Given the description of an element on the screen output the (x, y) to click on. 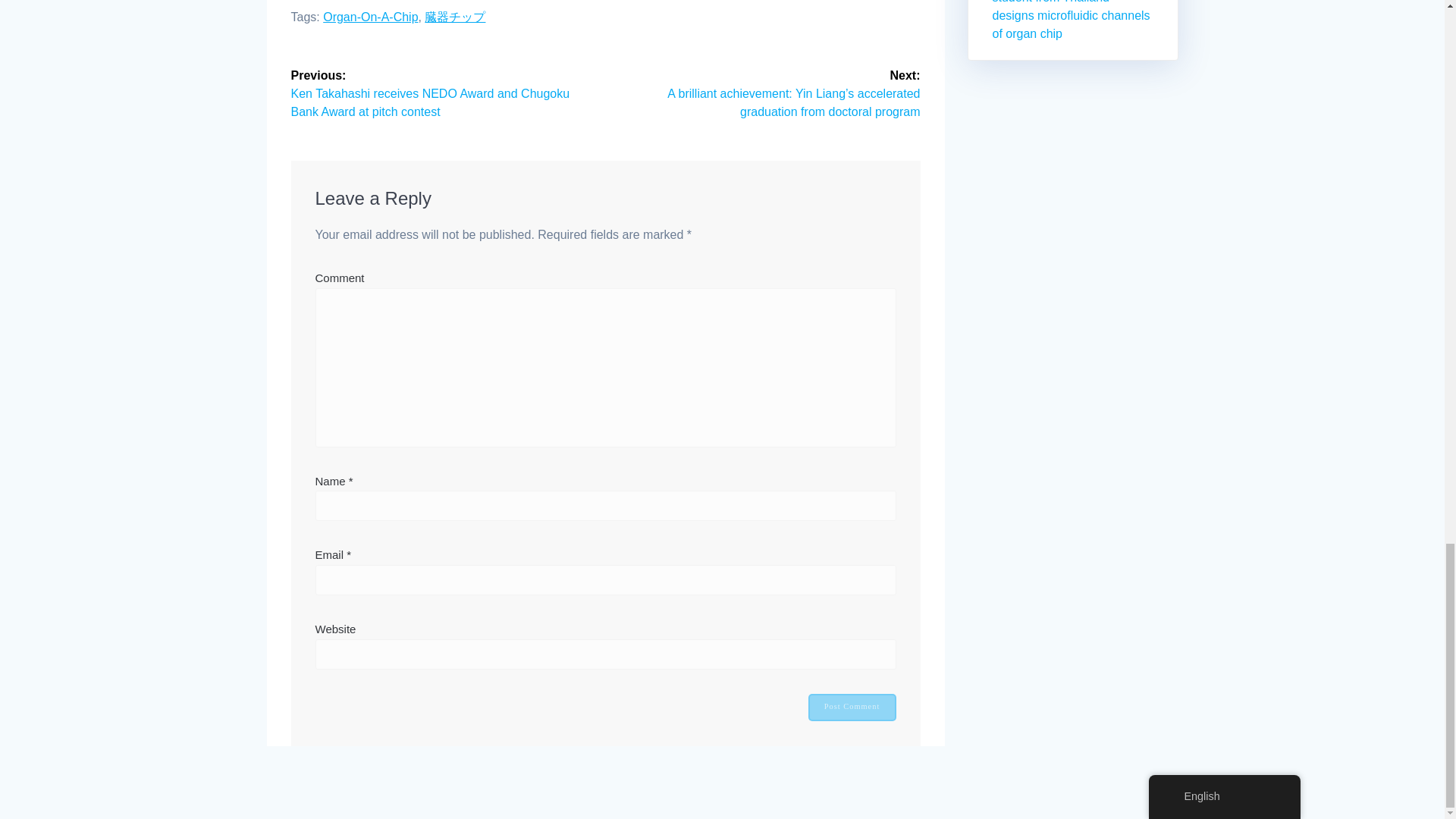
Post Comment (852, 707)
